Given the description of an element on the screen output the (x, y) to click on. 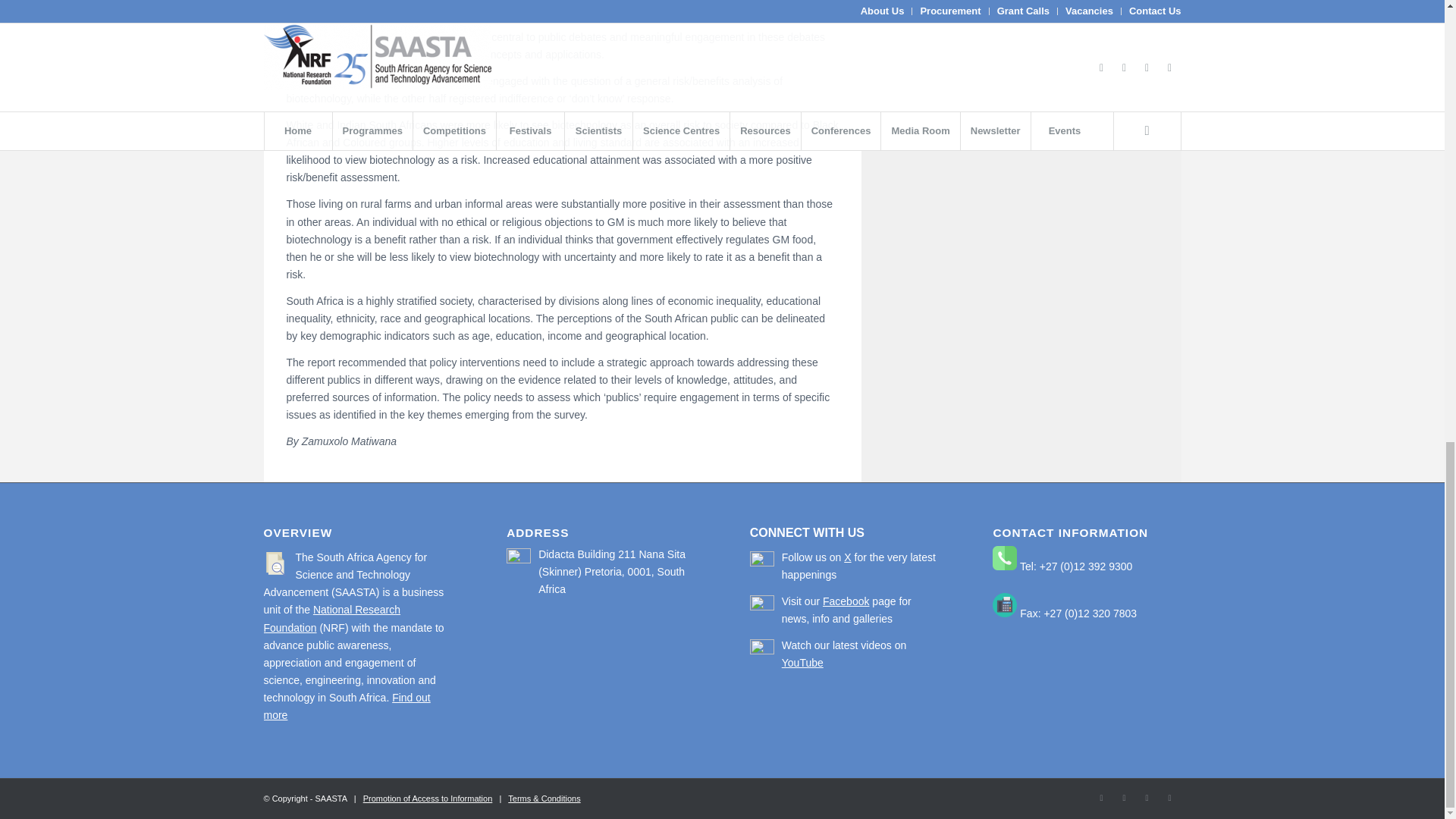
Facebook (1101, 797)
Mail (1169, 797)
Twitter (1124, 797)
Youtube (1146, 797)
